Given the description of an element on the screen output the (x, y) to click on. 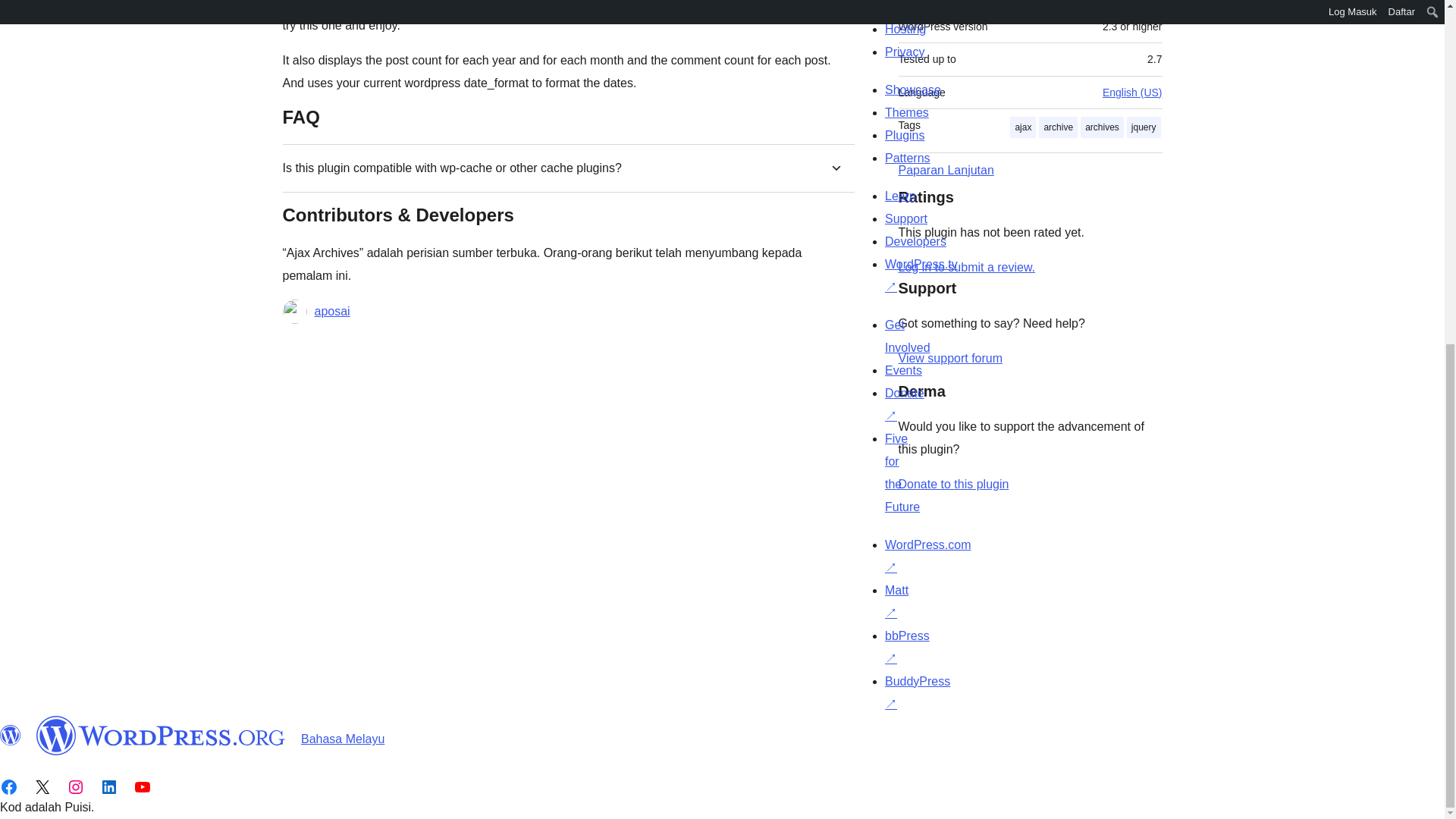
aposai (331, 311)
archives (1102, 127)
archive (1058, 127)
jquery (1143, 127)
ajax (1022, 127)
WordPress.org (10, 735)
Log in to WordPress.org (966, 267)
WordPress.org (160, 735)
